Given the description of an element on the screen output the (x, y) to click on. 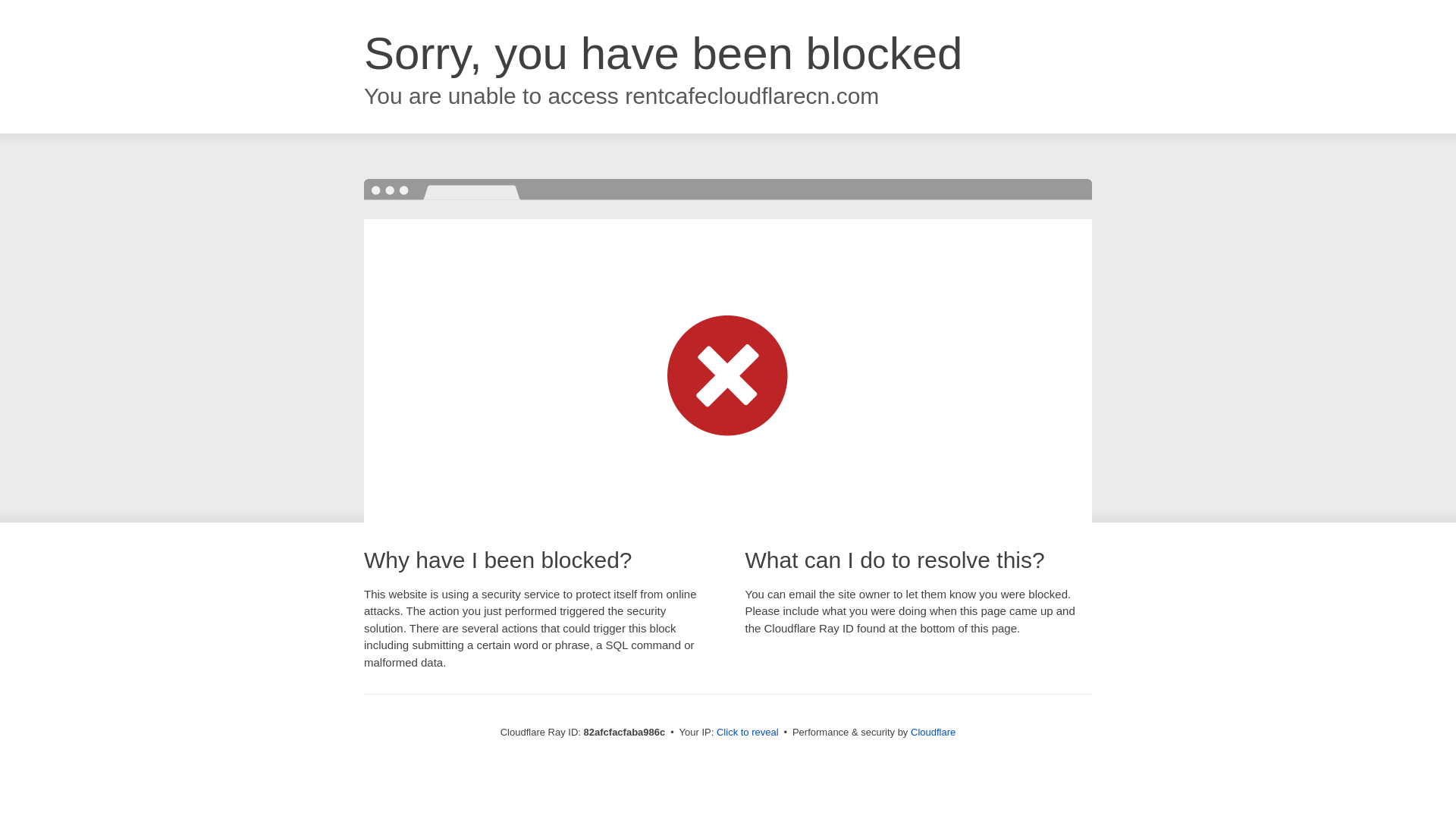
Cloudflare Element type: text (932, 731)
Click to reveal Element type: text (747, 732)
